Given the description of an element on the screen output the (x, y) to click on. 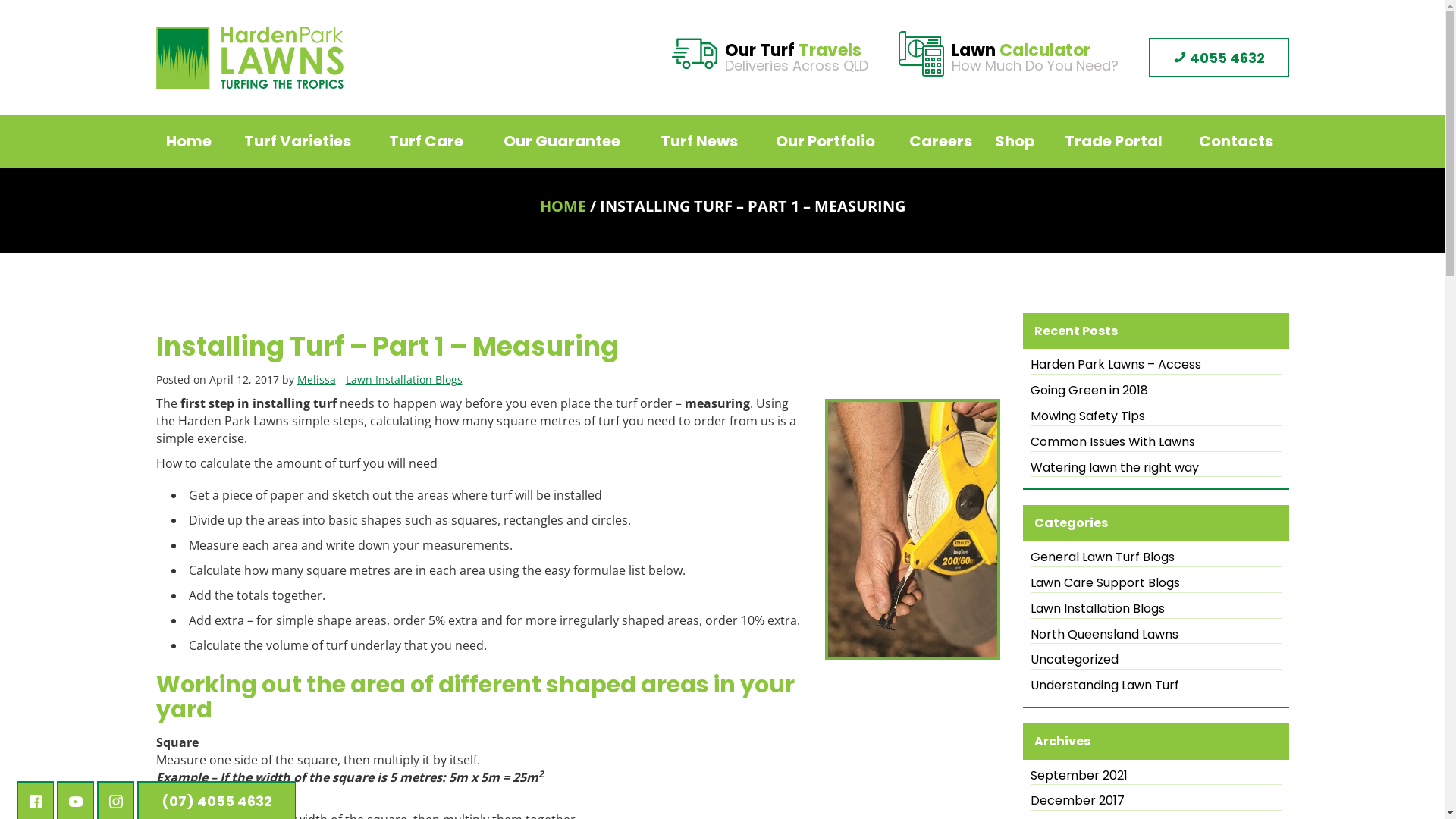
Trade Portal Element type: text (1113, 141)
Turf Varieties Element type: text (297, 141)
Lawn Calculator
How Much Do You Need? Element type: text (1033, 58)
HOME Element type: text (562, 205)
September 2021 Element type: text (1154, 776)
Watering lawn the right way Element type: text (1154, 468)
4055 4632 Element type: text (1218, 57)
Careers Element type: text (940, 141)
Understanding Lawn Turf Element type: text (1154, 686)
Shop Element type: text (1014, 141)
North Queensland Lawns Element type: text (1154, 635)
Our Guarantee Element type: text (561, 141)
Uncategorized Element type: text (1154, 660)
Home Element type: text (188, 141)
Melissa Element type: text (316, 379)
Common Issues With Lawns Element type: text (1154, 442)
Turf News Element type: text (699, 141)
Lawn Care Support Blogs Element type: text (1154, 583)
December 2017 Element type: text (1154, 801)
Mowing Safety Tips Element type: text (1154, 416)
Turf Care Element type: text (425, 141)
Our Portfolio Element type: text (824, 141)
Lawn Installation Blogs Element type: text (403, 379)
Going Green in 2018 Element type: text (1154, 391)
Lawn Installation Blogs Element type: text (1154, 609)
General Lawn Turf Blogs Element type: text (1154, 558)
Contacts Element type: text (1235, 141)
